Given the description of an element on the screen output the (x, y) to click on. 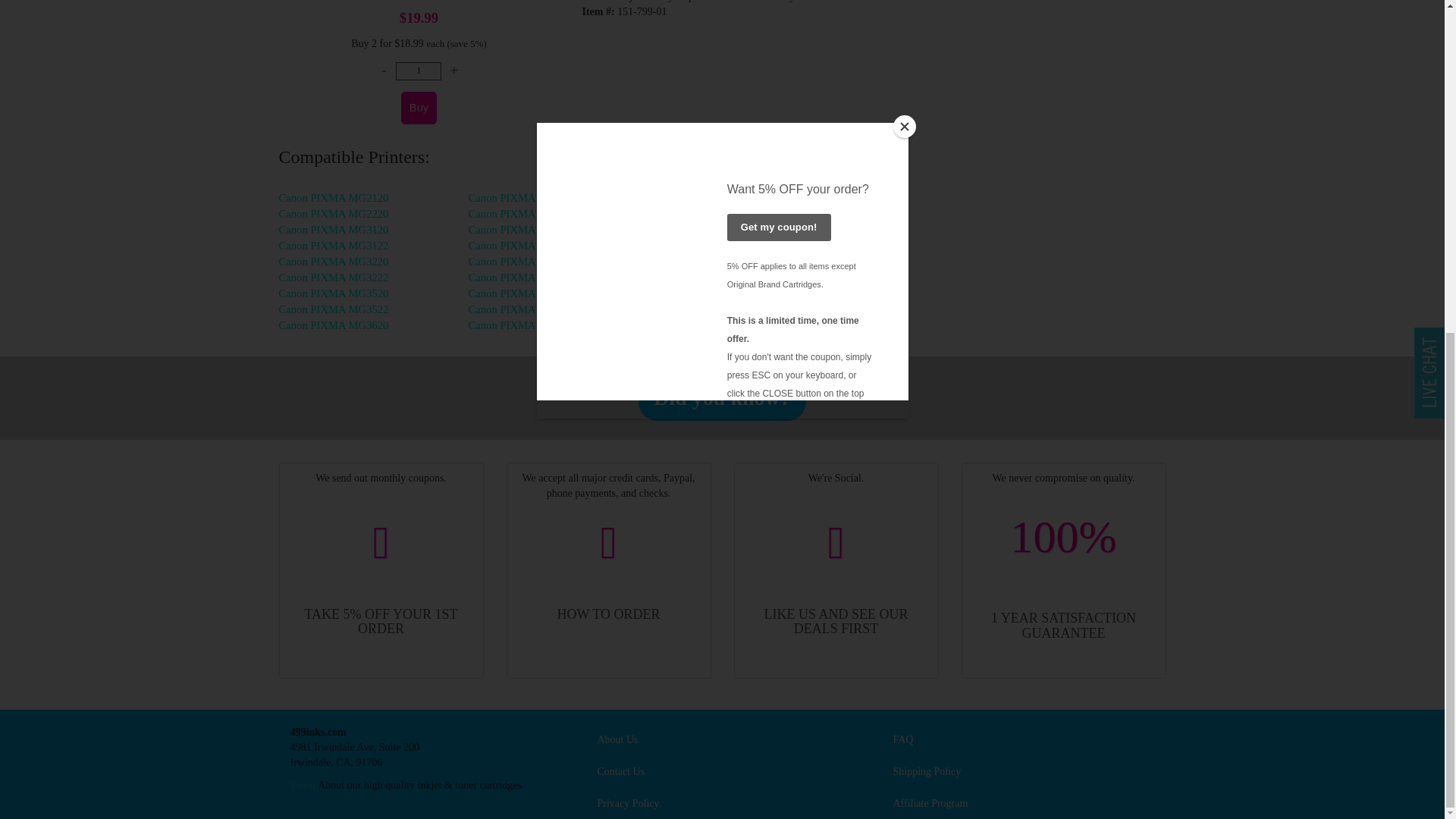
Canon PIXMA MX392 (520, 261)
Buy (418, 107)
1 (418, 71)
Canon PIXMA MG3620 (333, 325)
Canon PIXMA MG3120 (333, 229)
Canon PIXMA MG4220 (523, 214)
Canon PIXMA MG4120 (523, 197)
Canon PIXMA MG3222 (333, 277)
Canon PIXMA MG2220 (333, 214)
Canon PIXMA MG2120 (333, 197)
- (383, 71)
Canon PIXMA MG3520 (333, 293)
Canon PIXMA MG3220 (333, 261)
Canon PIXMA MX439 (520, 293)
Canon PIXMA MG3122 (333, 245)
